Given the description of an element on the screen output the (x, y) to click on. 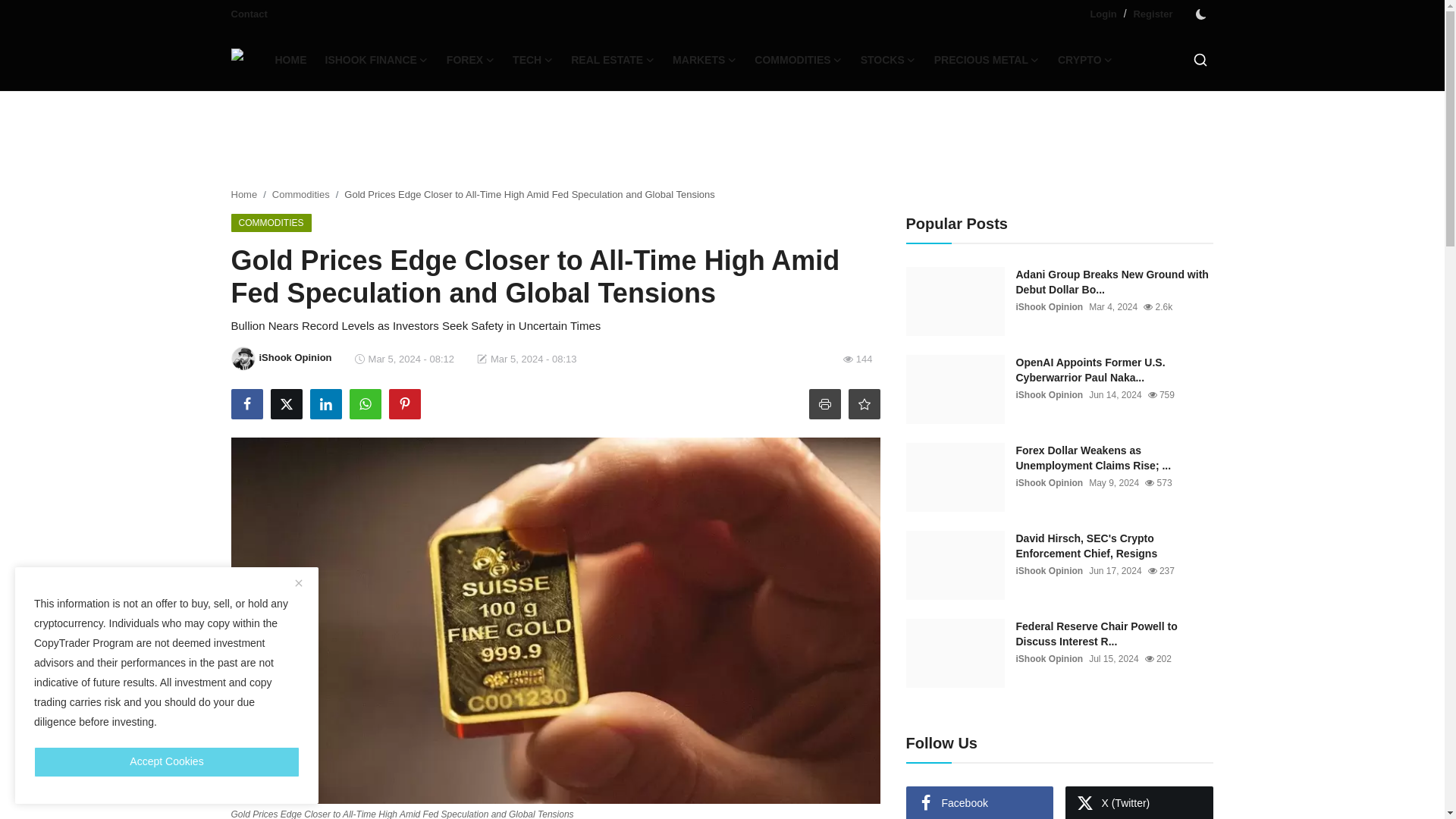
ISHOOK FINANCE (375, 59)
Login (1102, 14)
Register (1152, 14)
PRECIOUS METAL (986, 59)
Add to Reading List (863, 404)
REAL ESTATE (612, 59)
MARKETS (704, 59)
FOREX (470, 59)
Contact (248, 14)
TECH (532, 59)
COMMODITIES (797, 59)
CRYPTO (1085, 59)
dark (1200, 14)
STOCKS (887, 59)
